Given the description of an element on the screen output the (x, y) to click on. 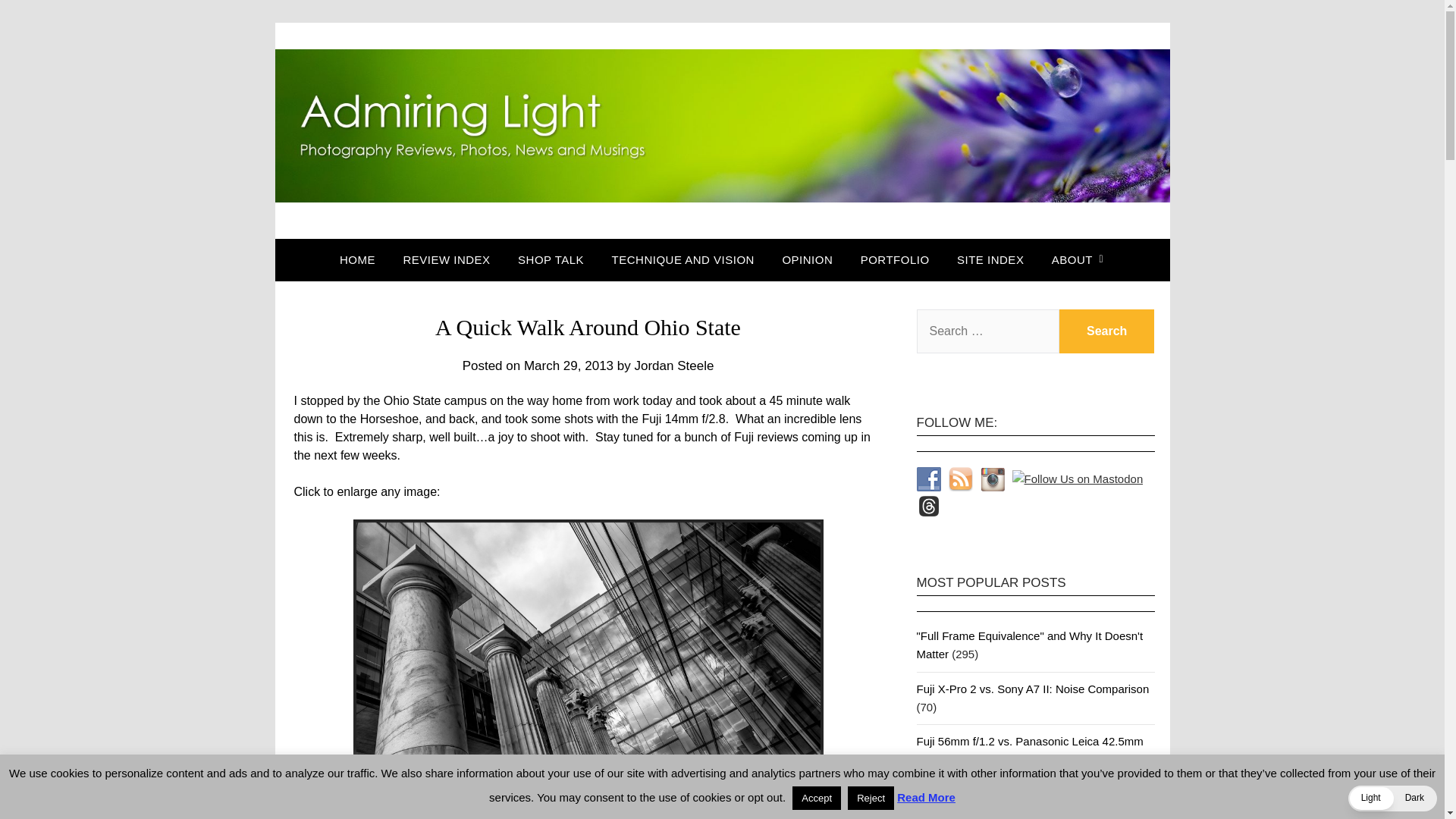
Follow Us on RSS (959, 478)
"Full Frame Equivalence" and Why It Doesn't Matter (1028, 644)
SITE INDEX (989, 259)
Fuji X-Pro 2 vs. Sony A7 II: Noise Comparison (1031, 688)
PORTFOLIO (895, 259)
SHOP TALK (550, 259)
Follow Us on Threads (927, 505)
March 29, 2013 (568, 365)
ABOUT (1072, 259)
OPINION (807, 259)
REVIEW INDEX (446, 259)
Search (1106, 330)
Follow Us on Instagram (991, 478)
Follow Us on Mastodon (1076, 479)
Search (1106, 330)
